Given the description of an element on the screen output the (x, y) to click on. 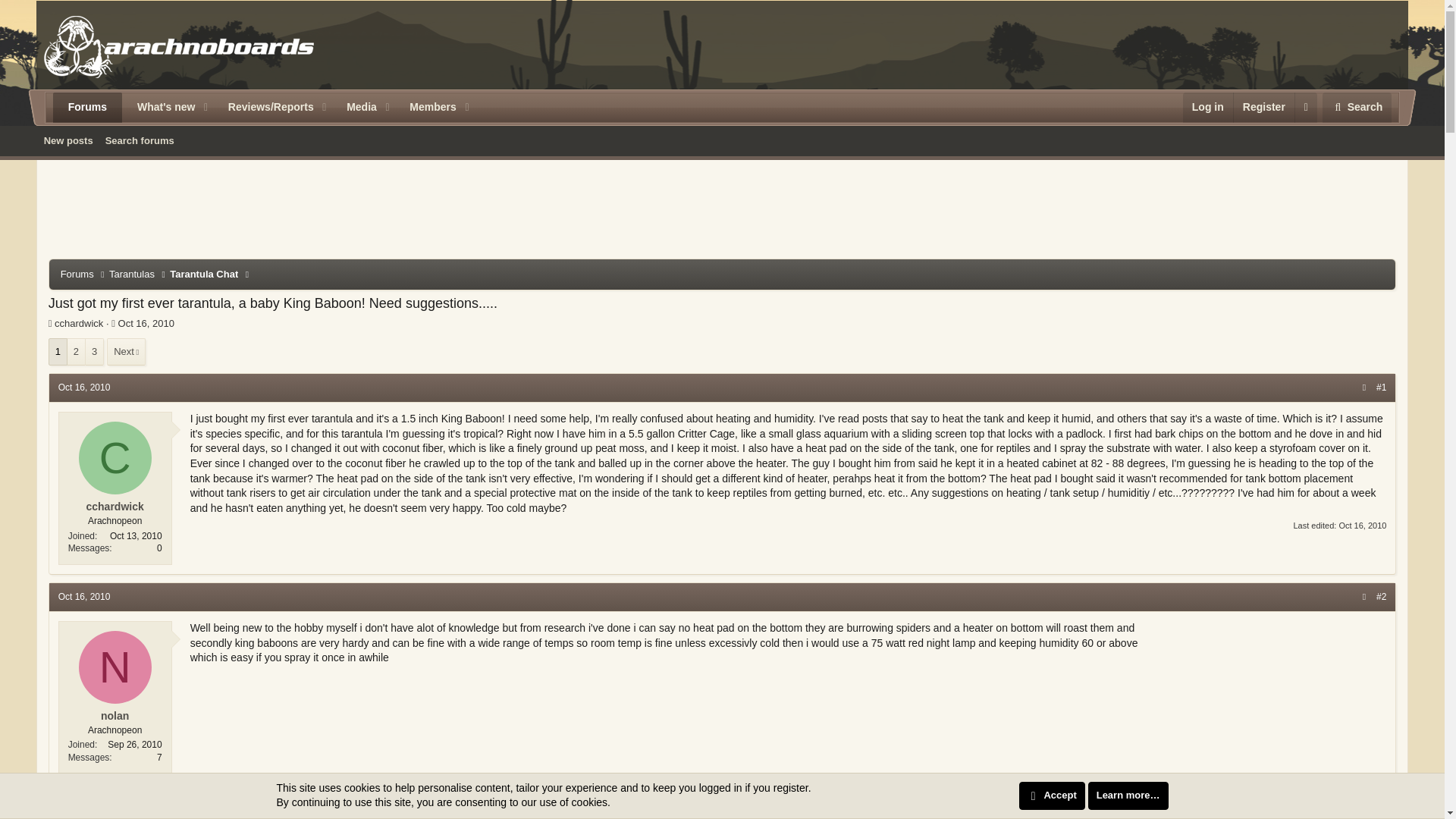
Search (1356, 107)
Search forums (139, 140)
Thread starter (50, 323)
New posts (68, 140)
Search (1356, 107)
Oct 16, 2010 at 1:06 AM (1362, 524)
What's new (160, 107)
Forums (87, 107)
Log in (1207, 107)
Members (427, 107)
Oct 16, 2010 at 1:05 AM (145, 323)
Oct 16, 2010 at 1:05 AM (84, 387)
Register (1263, 107)
Media (355, 107)
